Given the description of an element on the screen output the (x, y) to click on. 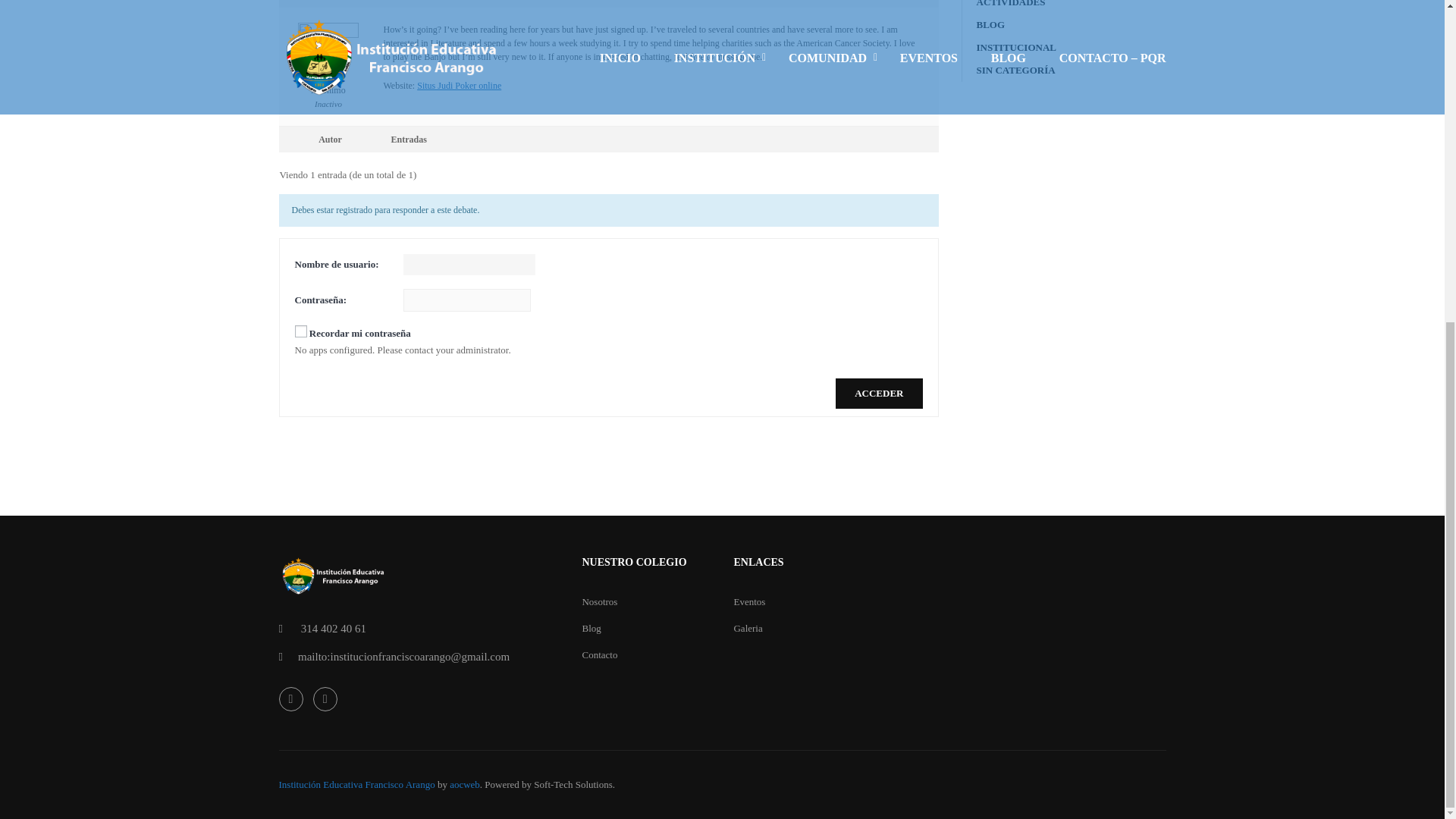
ACCEDER (878, 393)
INSTITUCIONAL (1016, 47)
ACTIVIDADES (1010, 3)
BLOG (991, 24)
Situs Judi Poker online (458, 85)
forever (299, 331)
